Given the description of an element on the screen output the (x, y) to click on. 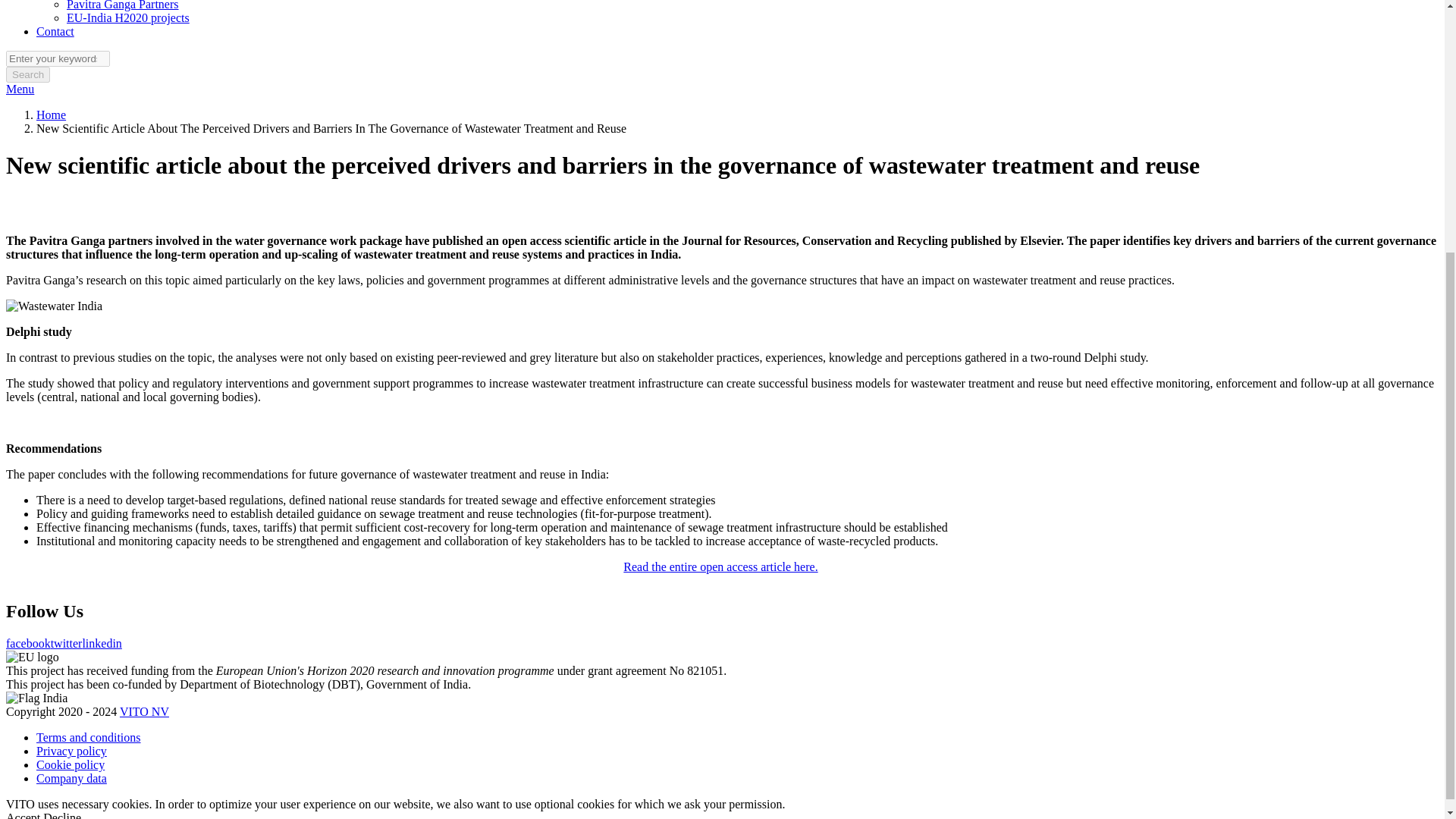
Search (27, 74)
Read the entire open access article here. (719, 566)
EU-India H2020 projects (127, 17)
Menu (19, 88)
Pavitra Ganga Partners (122, 5)
Home (50, 114)
VITO NV (143, 711)
twitter (66, 643)
Contact (55, 31)
Footer (31, 755)
linkedin (100, 643)
Search (27, 74)
Enter the terms you wish to search for. (57, 58)
facebook (27, 643)
